Given the description of an element on the screen output the (x, y) to click on. 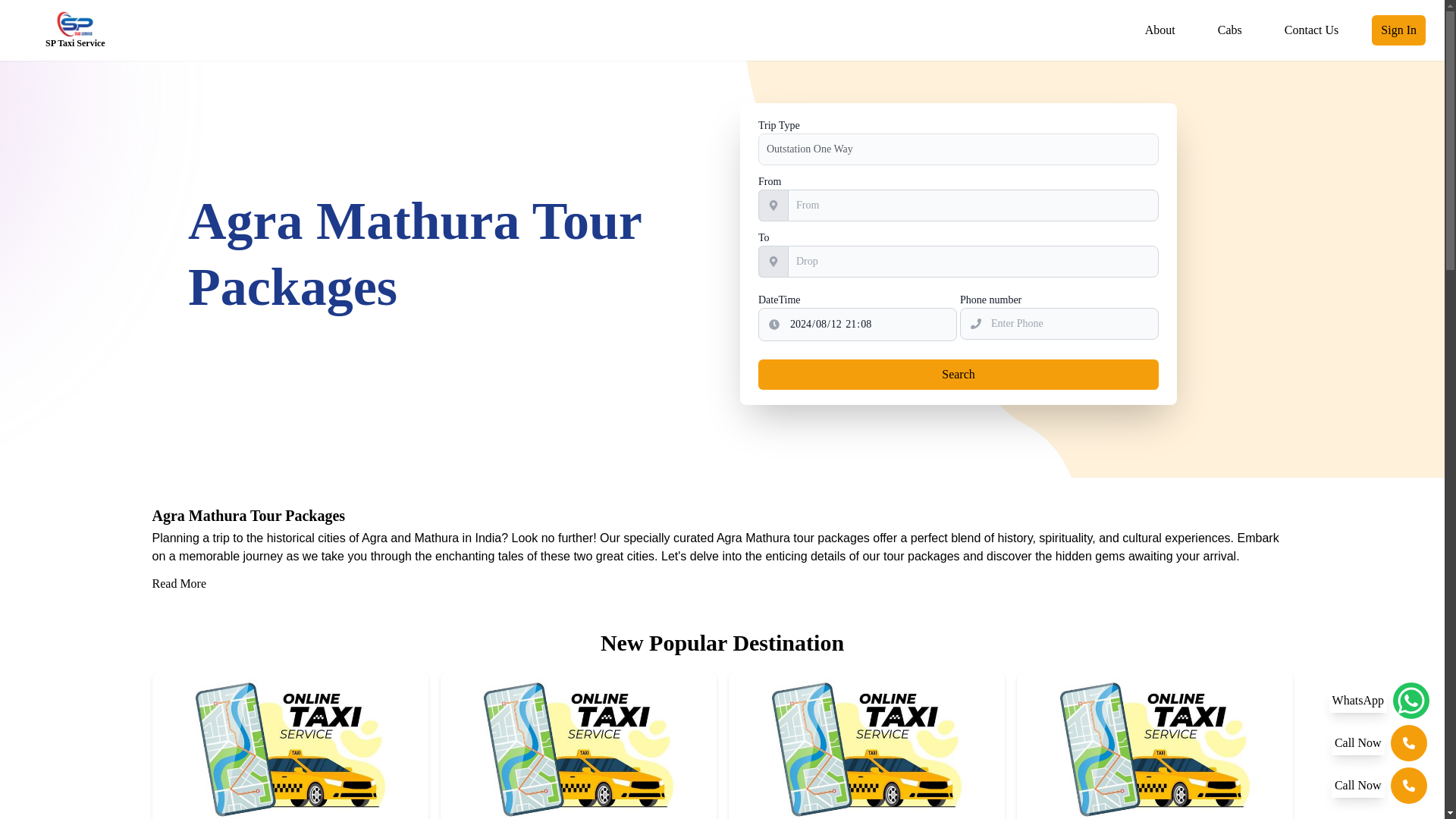
2024-08-12T21:08 (857, 324)
Read More (178, 583)
SP Taxi Service (74, 30)
About (1160, 30)
Sign In (1398, 30)
Contact Us (1311, 30)
Search (958, 374)
Call Now (1379, 742)
WhatsApp (1379, 700)
Cabs (1229, 30)
